Given the description of an element on the screen output the (x, y) to click on. 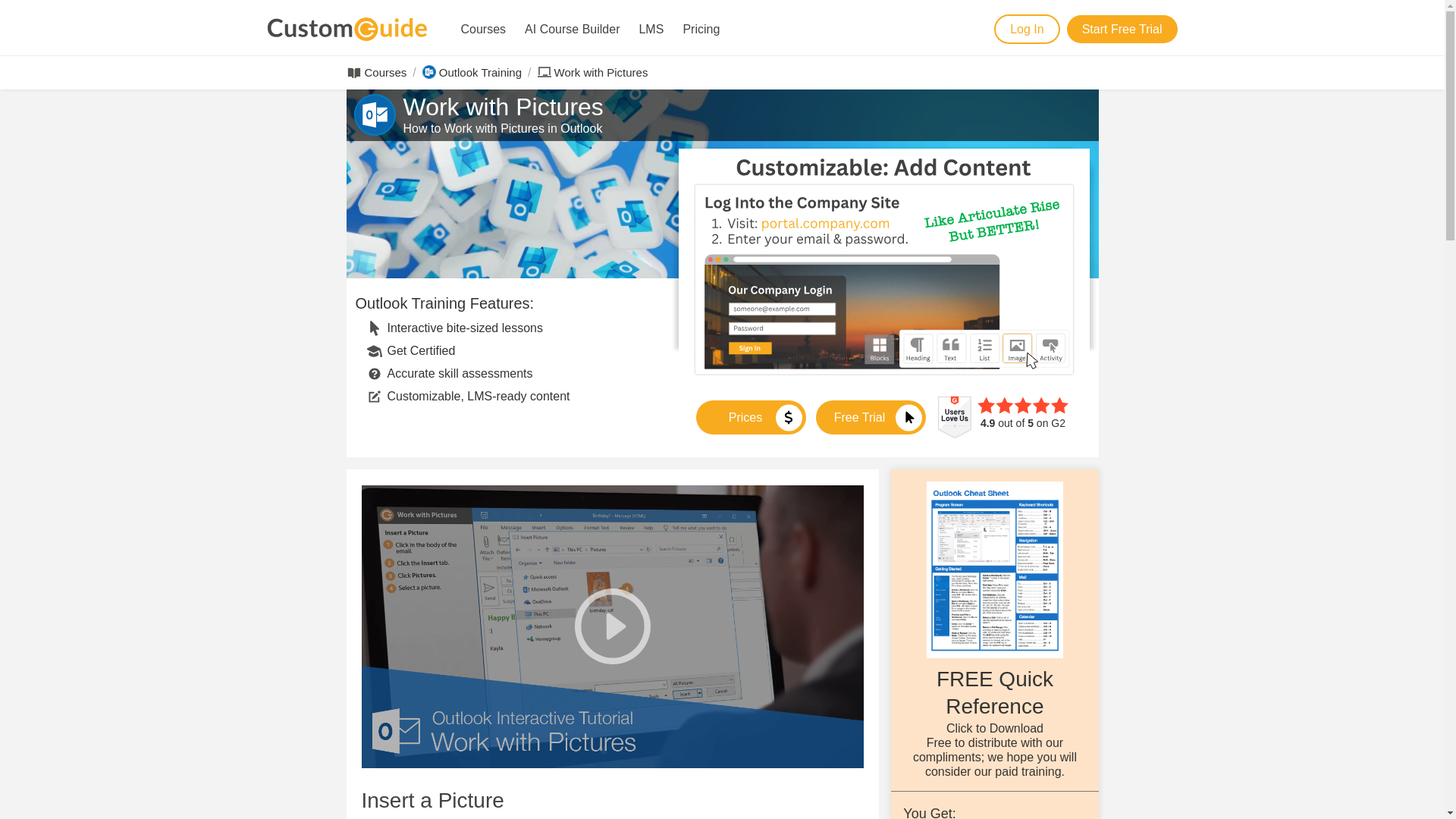
LMS (650, 29)
LMS (650, 29)
Start Free Trial (1122, 29)
Log In (1026, 29)
Click to Download (994, 727)
Log In (1026, 29)
Insert a Picture (432, 800)
Outlook Training (479, 72)
Pricing (700, 29)
Courses (483, 29)
Prices (750, 417)
Start Free Trial (1122, 29)
AI Course Builder (572, 29)
Free Trial (870, 417)
